Given the description of an element on the screen output the (x, y) to click on. 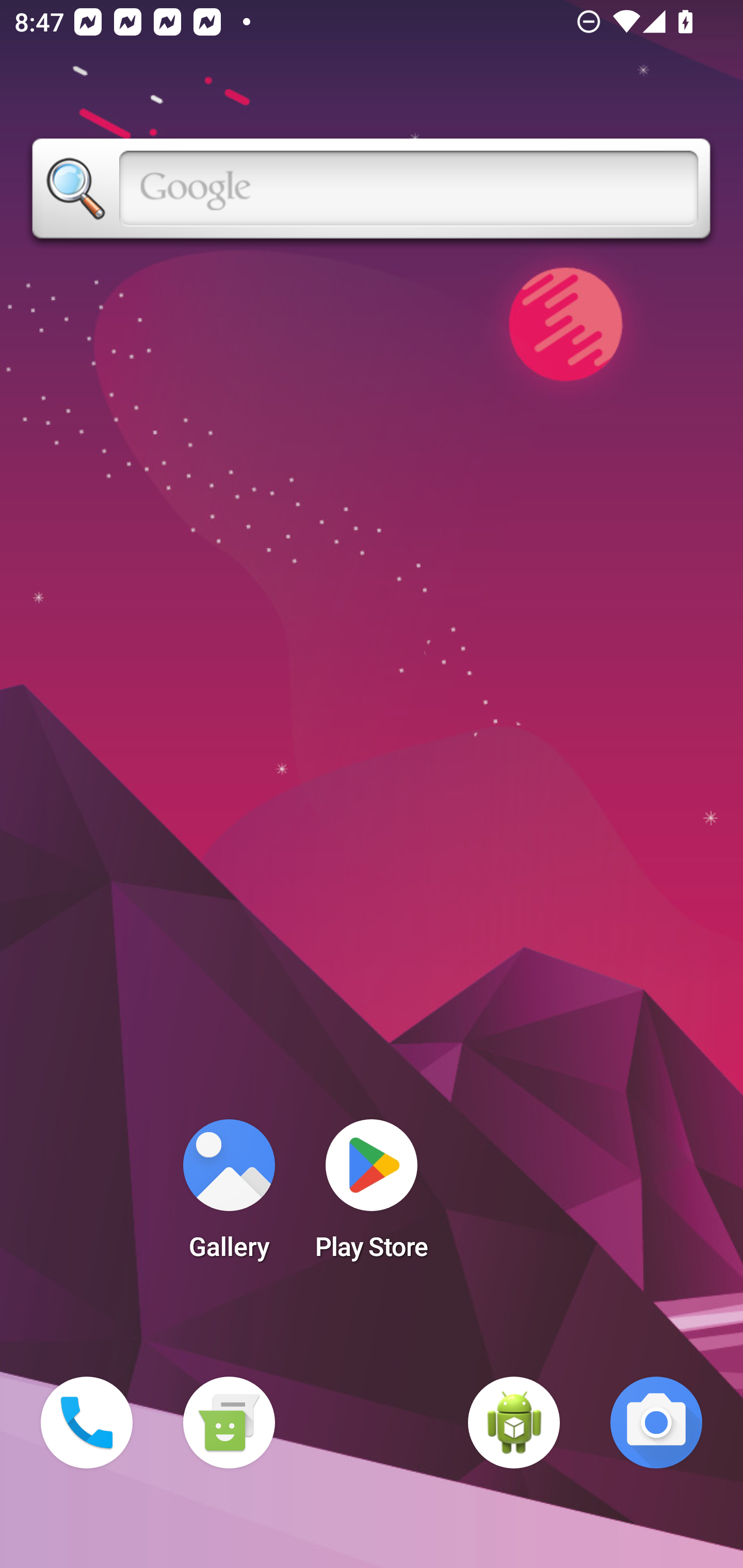
Gallery (228, 1195)
Play Store (371, 1195)
Phone (86, 1422)
Messaging (228, 1422)
WebView Browser Tester (513, 1422)
Camera (656, 1422)
